Given the description of an element on the screen output the (x, y) to click on. 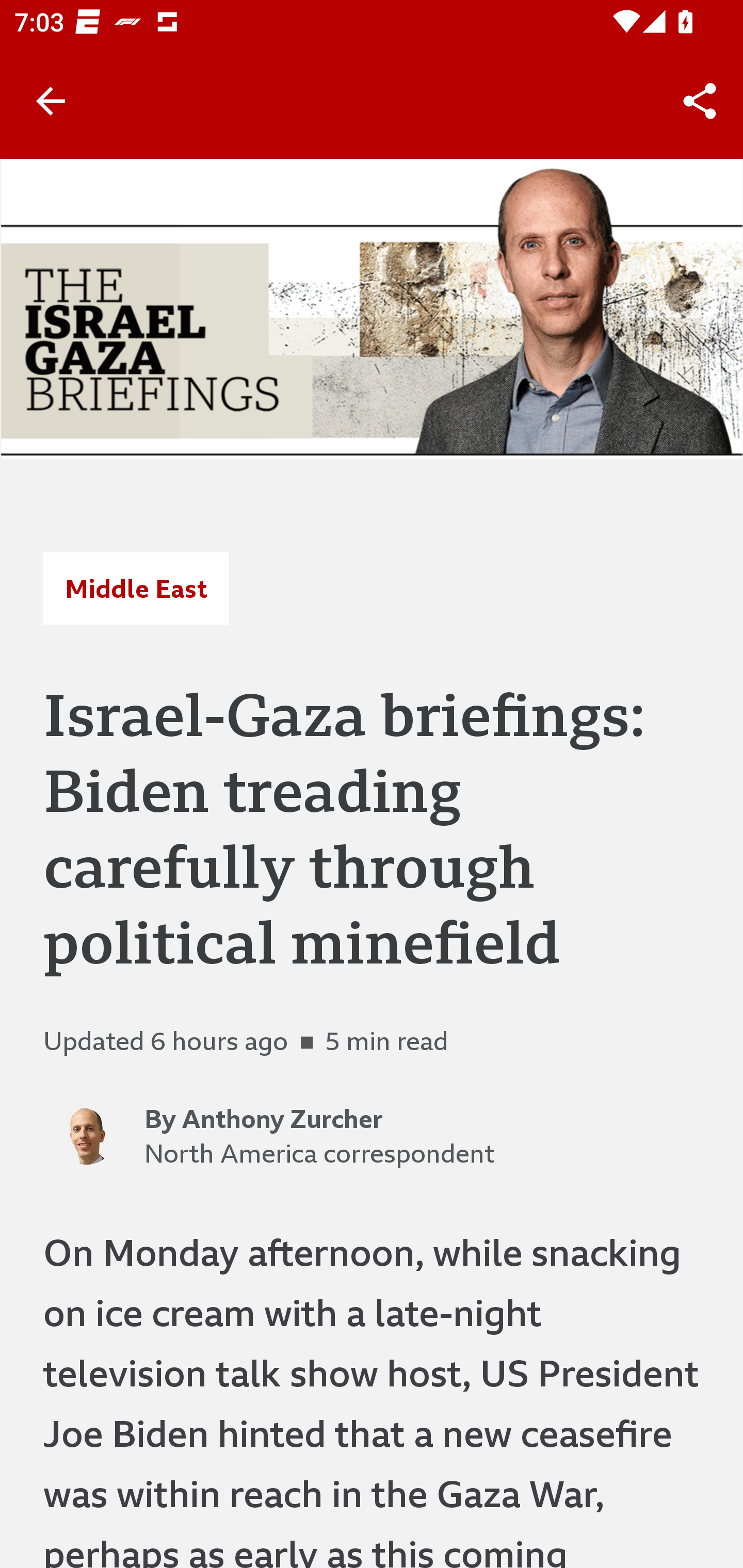
Back (50, 101)
Share (699, 101)
The Israel Gaza Briefings: Anthony Zurcher (371, 307)
Middle East (135, 588)
